Given the description of an element on the screen output the (x, y) to click on. 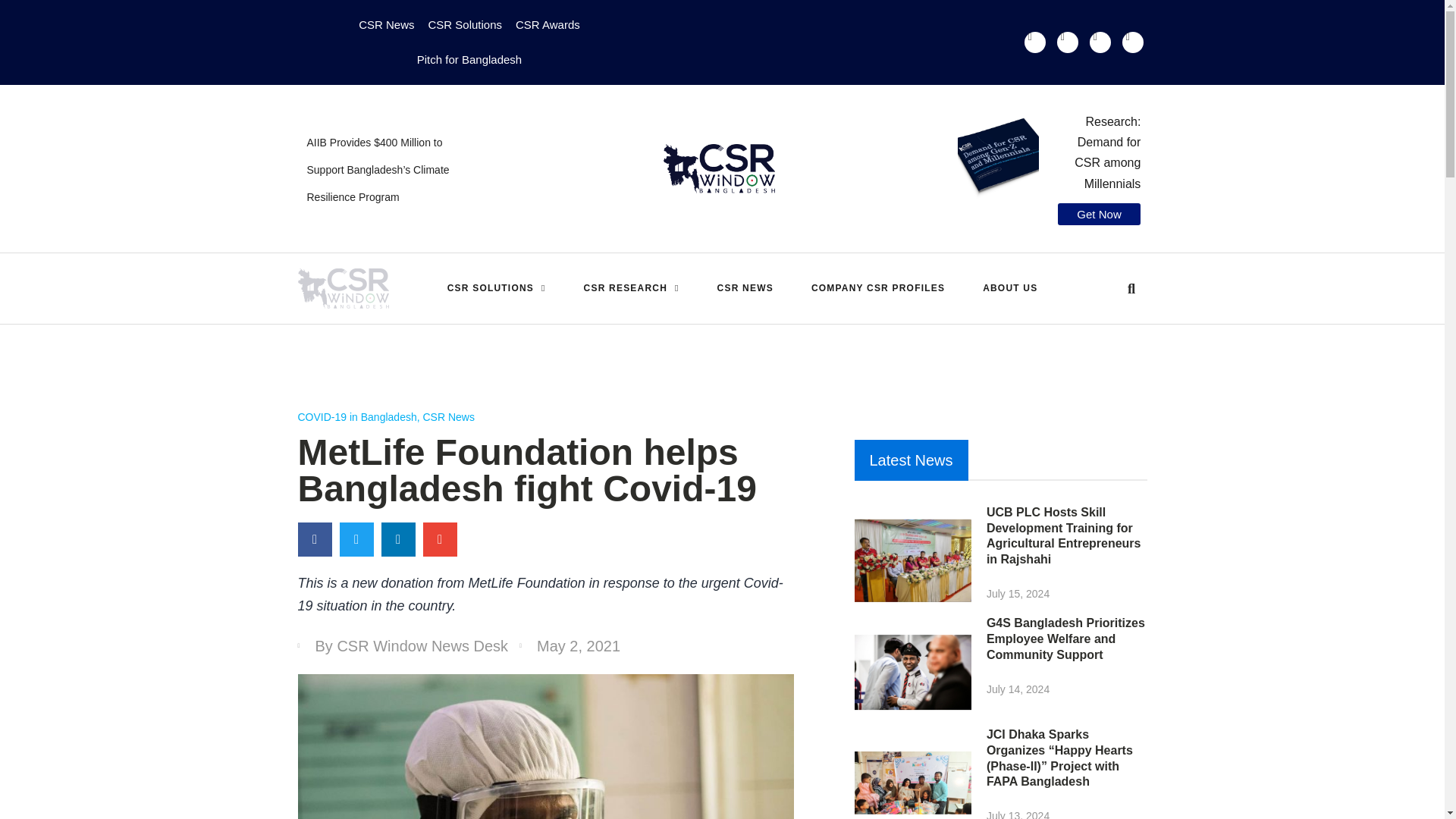
CSR SOLUTIONS (496, 287)
CSR Awards (547, 24)
Pitch for Bangladesh (469, 59)
Get Now (1099, 214)
CSR News (386, 24)
CSR Solutions (464, 24)
